Given the description of an element on the screen output the (x, y) to click on. 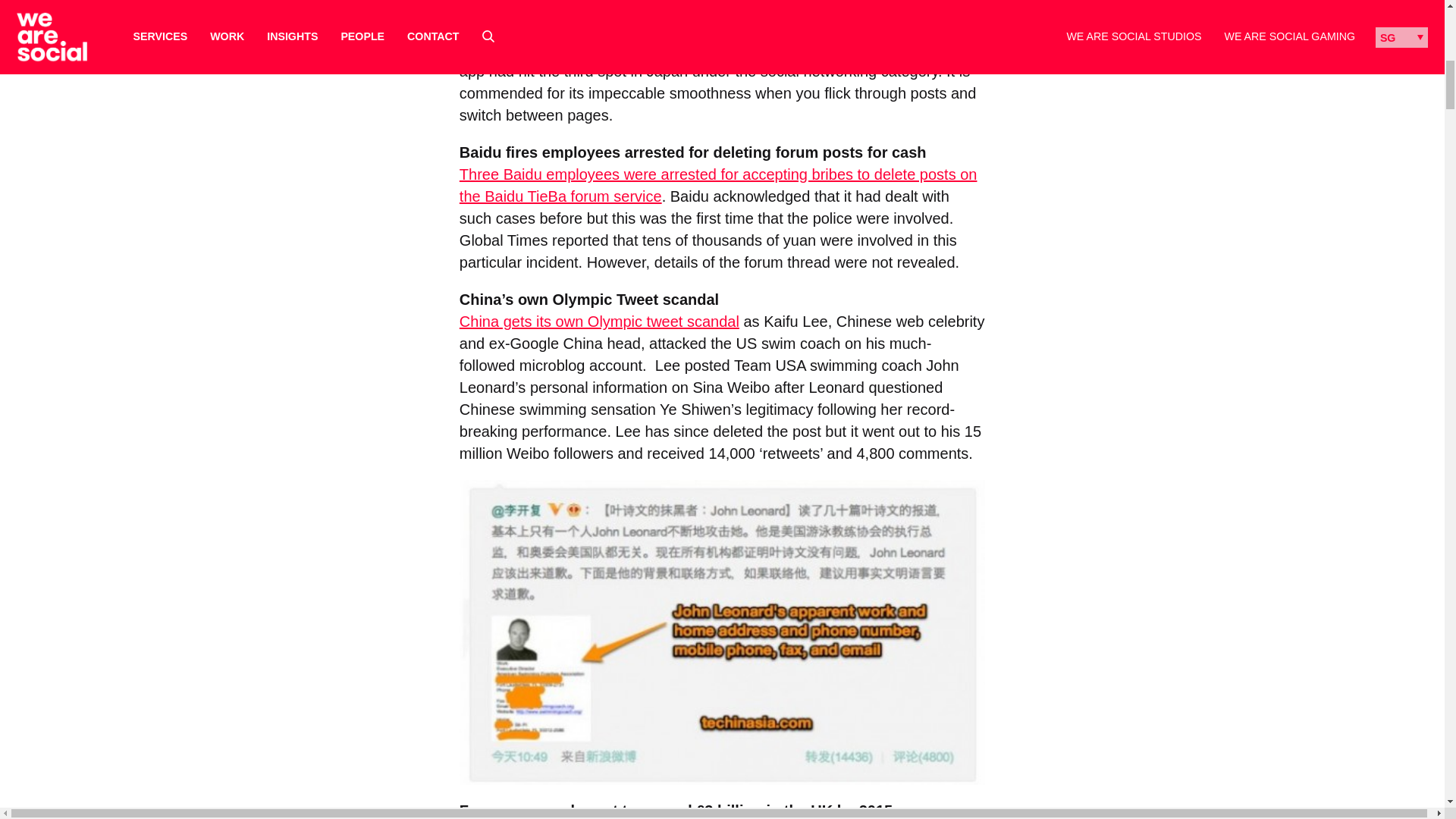
China gets its own Olympic tweet scandal (599, 321)
its remarkable Japanese location-based app (717, 6)
introduced a new iPhone app called Cake the Reader (695, 18)
